Given the description of an element on the screen output the (x, y) to click on. 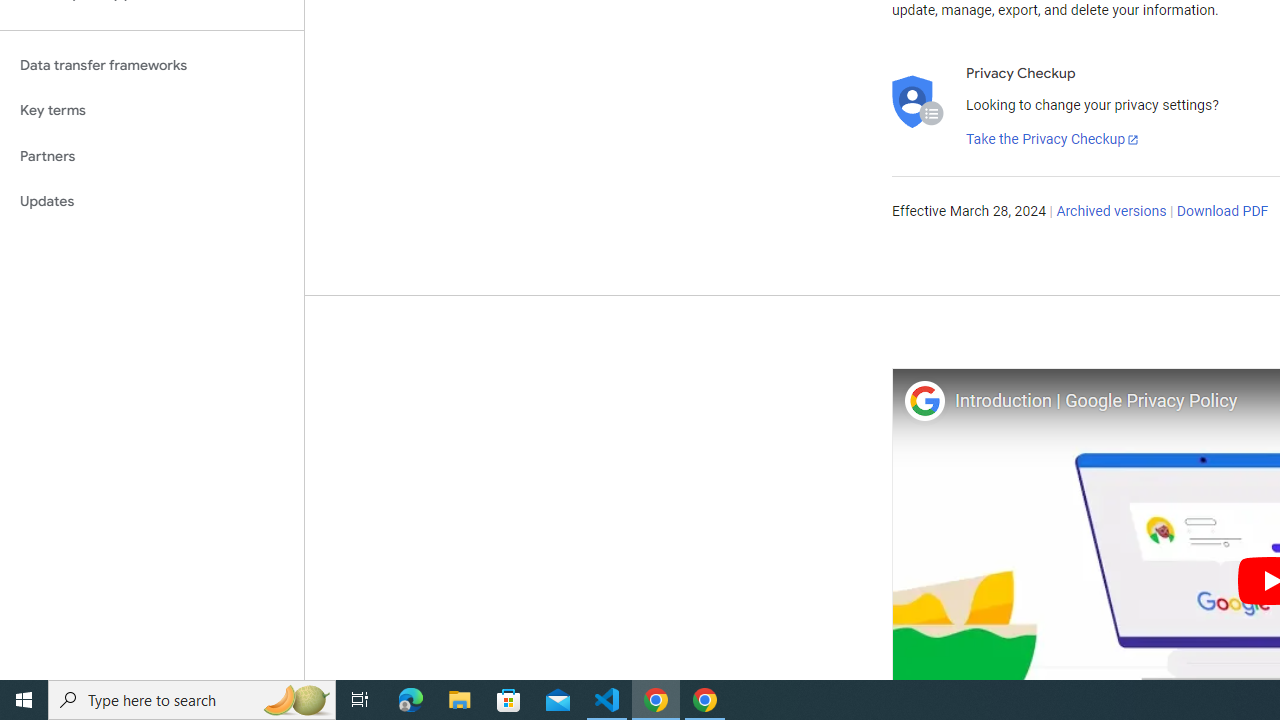
Photo image of Google (924, 400)
Data transfer frameworks (152, 65)
Archived versions (1111, 212)
Partners (152, 156)
Take the Privacy Checkup (1053, 140)
Updates (152, 201)
Download PDF (1222, 212)
Key terms (152, 110)
